Given the description of an element on the screen output the (x, y) to click on. 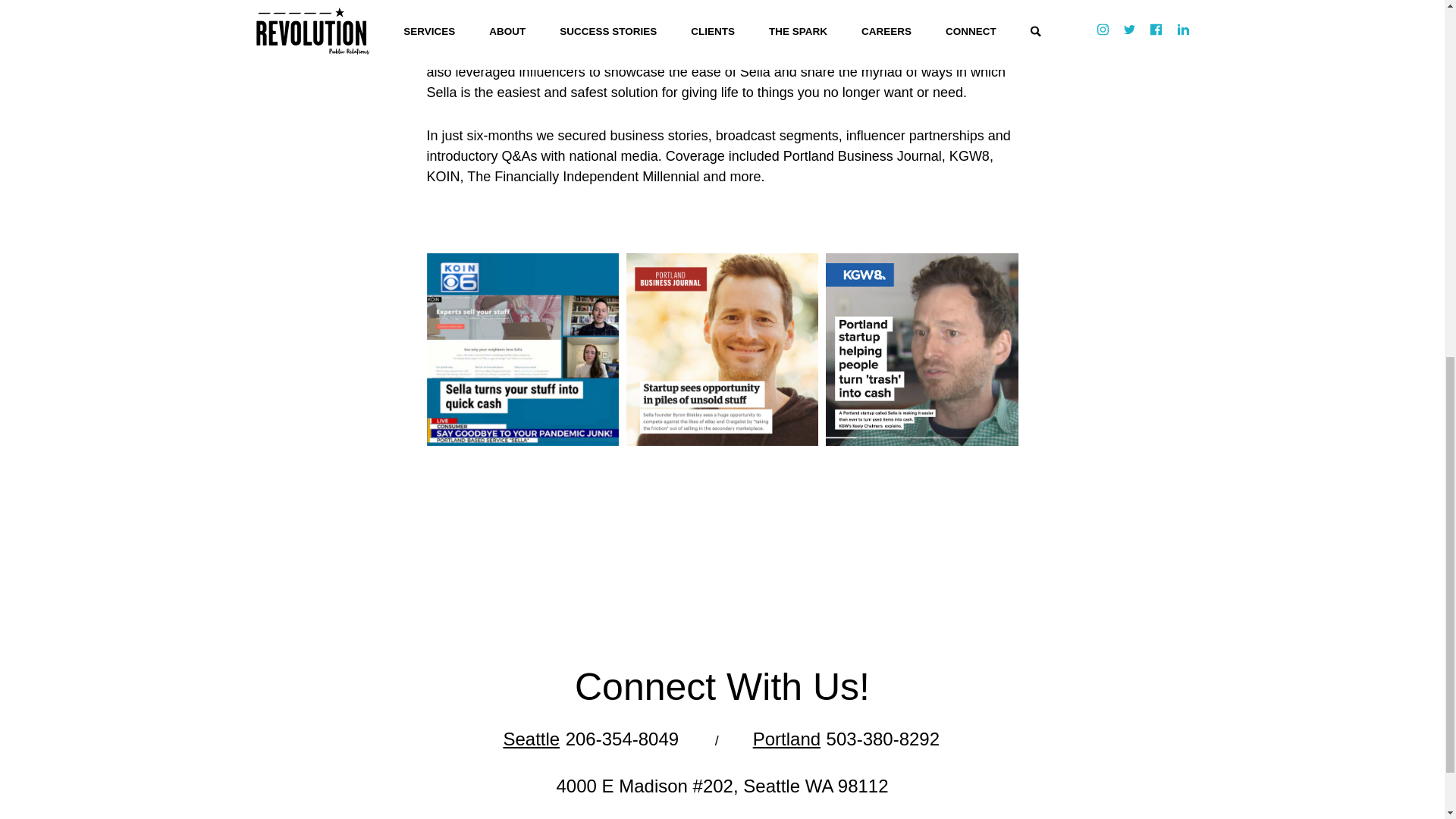
second-hand shopping (754, 30)
Portland (786, 738)
Seattle (530, 738)
